Given the description of an element on the screen output the (x, y) to click on. 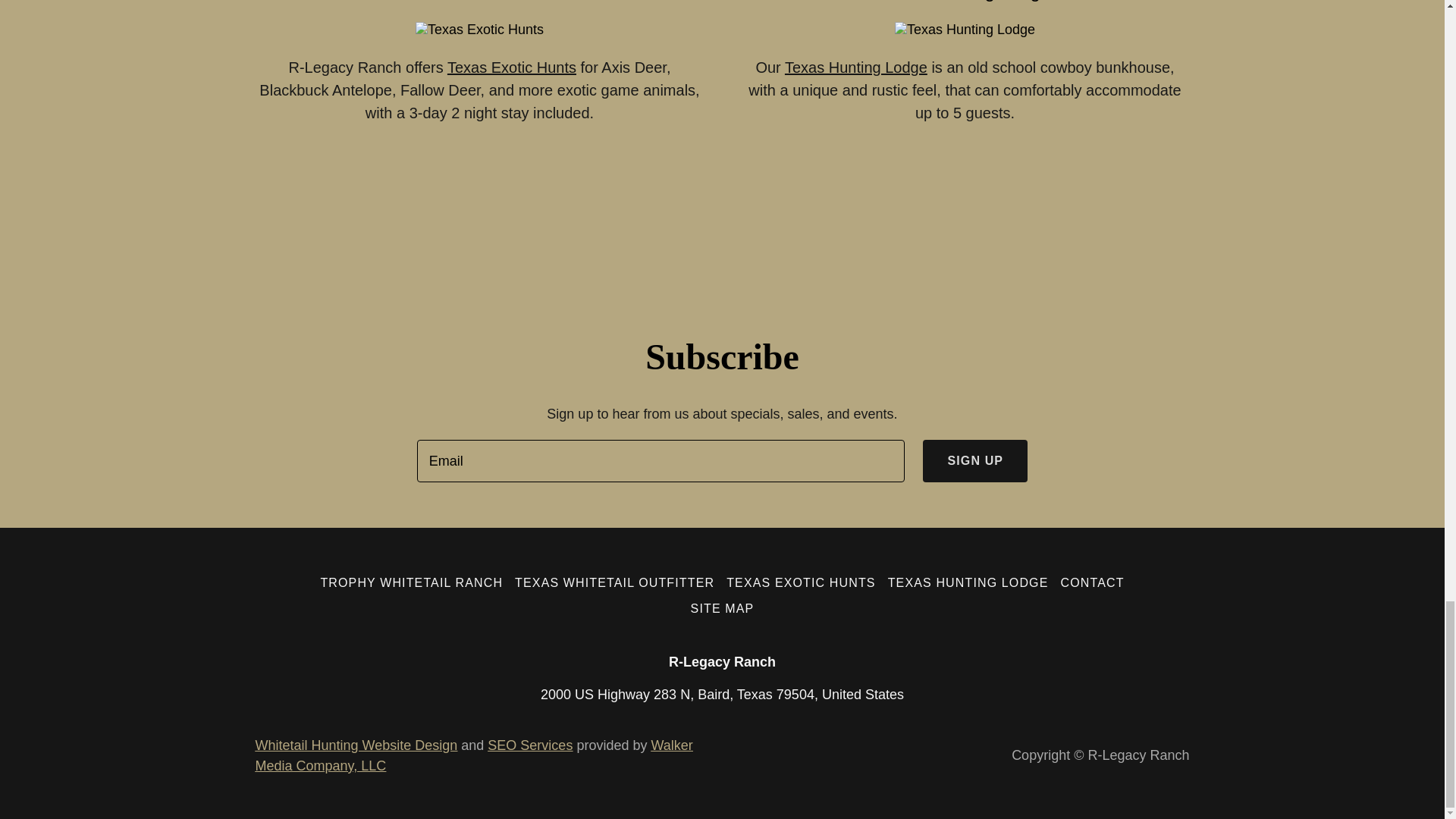
SIGN UP (975, 460)
Texas Hunting Lodge (855, 67)
TEXAS WHITETAIL OUTFITTER (614, 583)
Texas Exotic Hunts (511, 67)
TROPHY WHITETAIL RANCH (411, 583)
TEXAS EXOTIC HUNTS (800, 583)
